Given the description of an element on the screen output the (x, y) to click on. 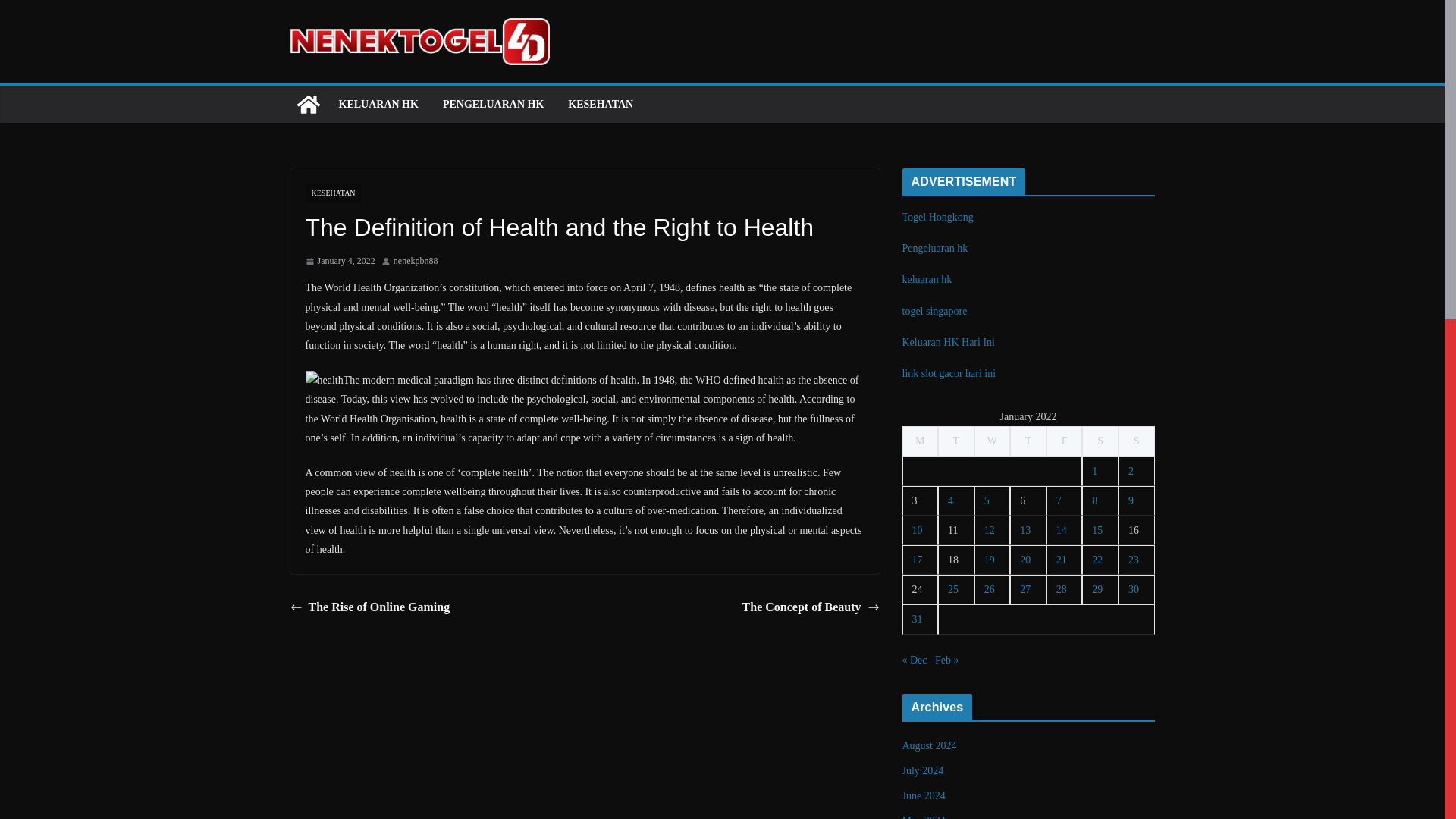
Sunday (1136, 440)
KELUARAN HK (377, 104)
The Concept of Beauty (810, 608)
19 (989, 559)
27 (1025, 589)
link slot gacor hari ini (948, 373)
15 (1097, 530)
KESEHATAN (600, 104)
togel singapore (935, 310)
29 (1097, 589)
